Given the description of an element on the screen output the (x, y) to click on. 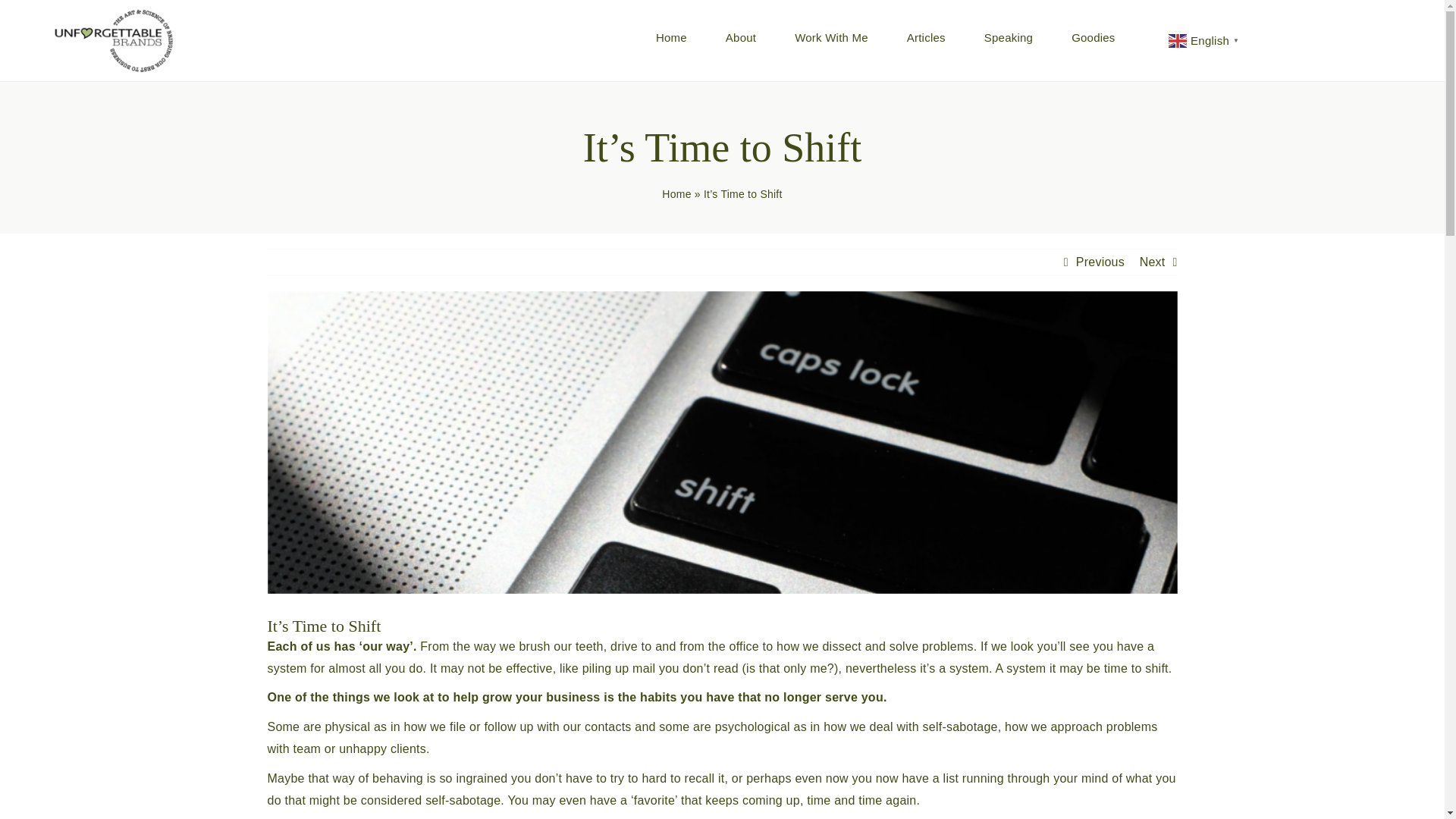
Next (1153, 262)
Work With Me (830, 38)
Home (671, 38)
Articles (925, 38)
Home (676, 193)
Goodies (1093, 38)
Speaking (1008, 38)
About (740, 38)
Previous (1099, 262)
